Given the description of an element on the screen output the (x, y) to click on. 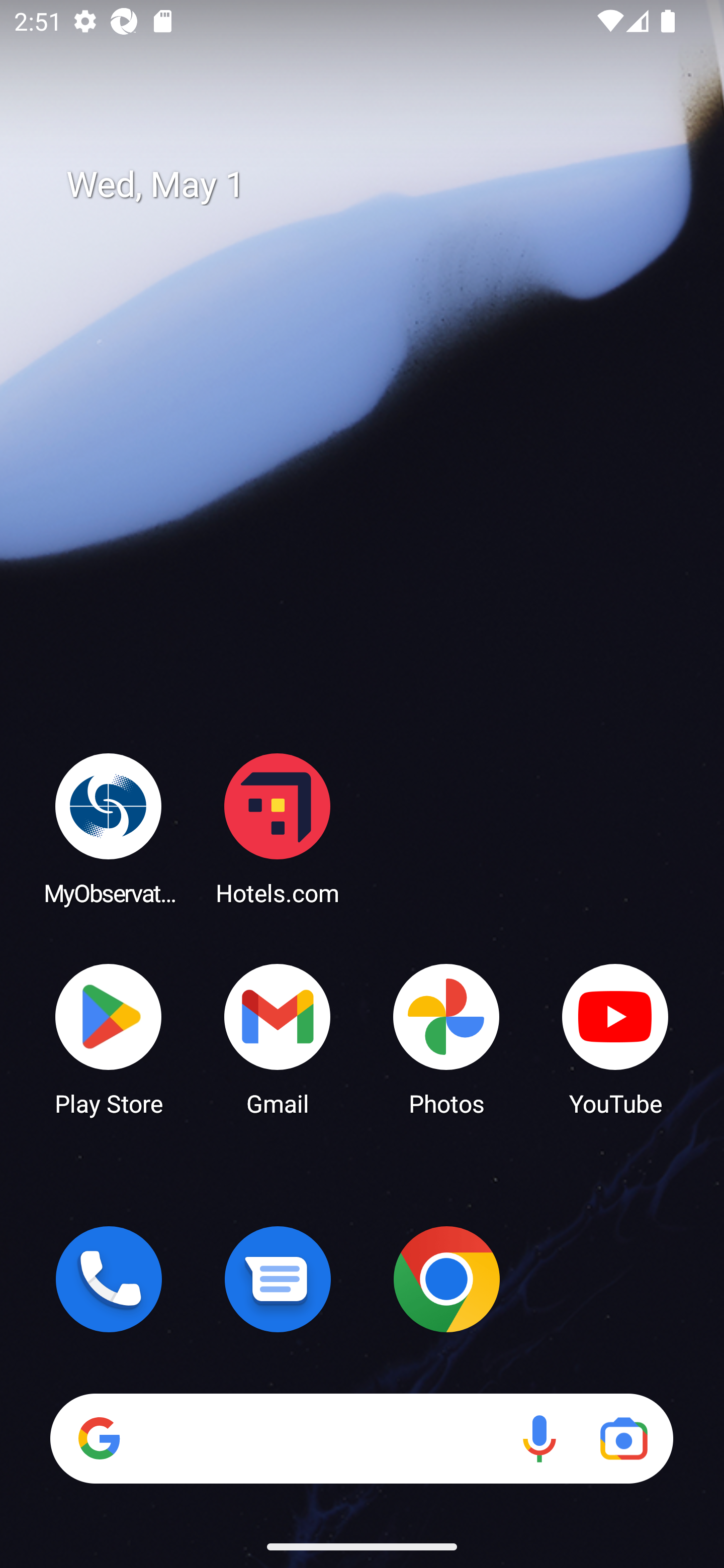
Wed, May 1 (375, 184)
MyObservatory (108, 828)
Hotels.com (277, 828)
Play Store (108, 1038)
Gmail (277, 1038)
Photos (445, 1038)
YouTube (615, 1038)
Phone (108, 1279)
Messages (277, 1279)
Chrome (446, 1279)
Search Voice search Google Lens (361, 1438)
Voice search (539, 1438)
Google Lens (623, 1438)
